Given the description of an element on the screen output the (x, y) to click on. 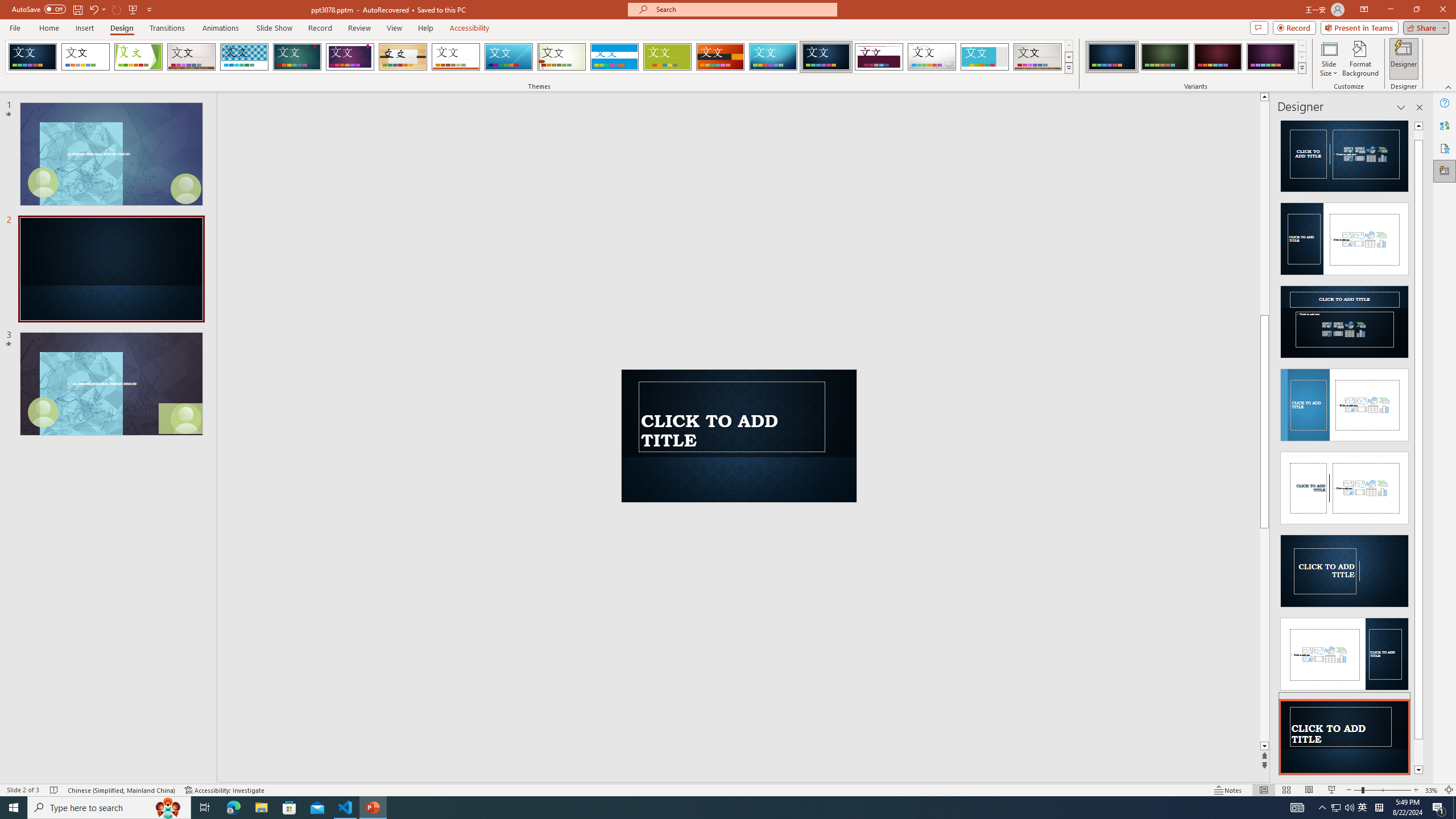
Class: NetUIScrollBar (1418, 447)
Ion (296, 56)
Damask Variant 1 (1112, 56)
Basis (667, 56)
Retrospect (455, 56)
Variants (1301, 67)
